Given the description of an element on the screen output the (x, y) to click on. 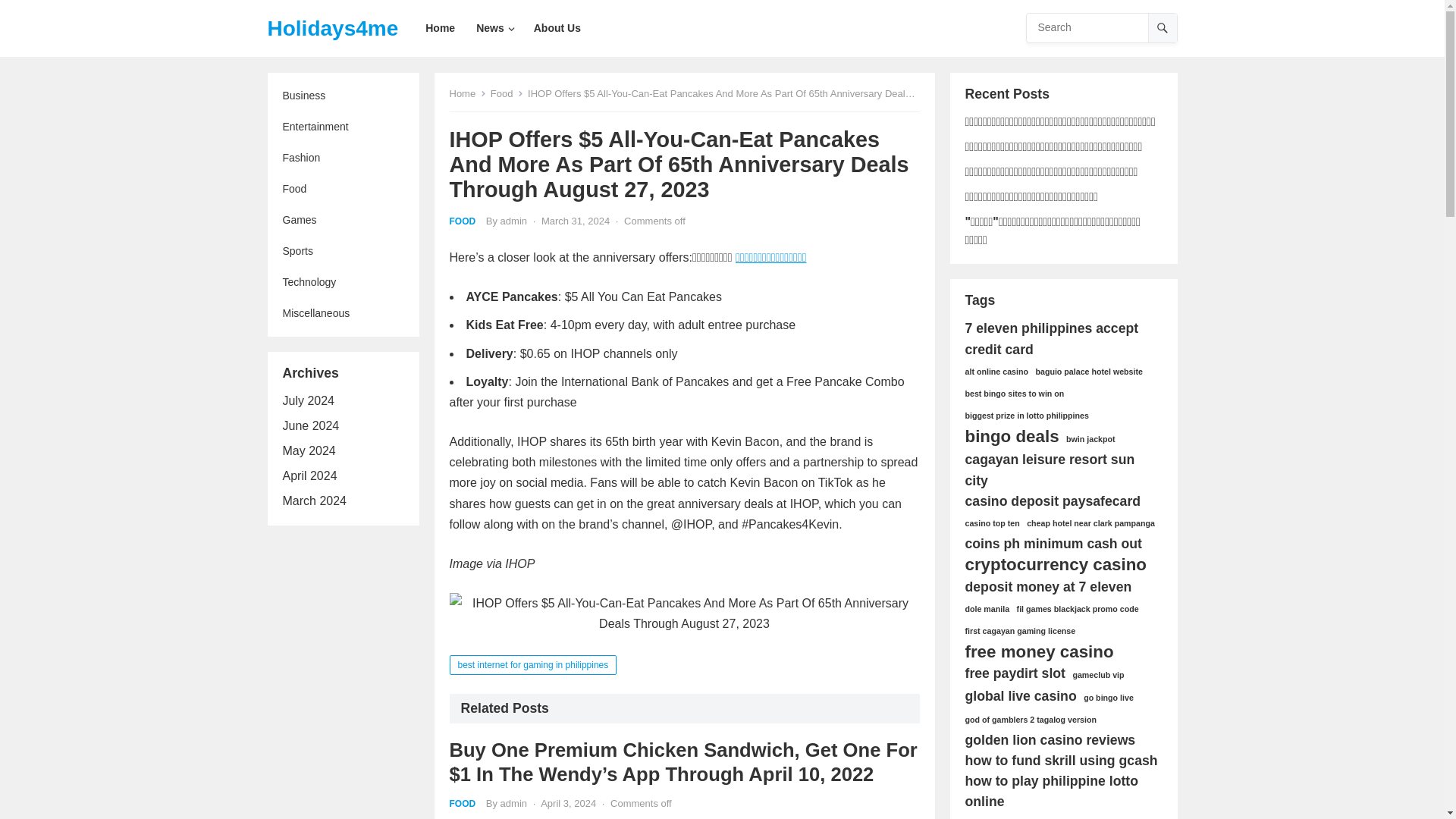
FOOD (462, 221)
Fashion (342, 157)
News (494, 28)
June 2024 (310, 425)
April 2024 (309, 475)
Miscellaneous (342, 313)
July 2024 (308, 400)
About Us (556, 28)
Posts by admin (513, 803)
Food (507, 93)
Holidays4me (331, 28)
Home (467, 93)
Food (342, 188)
Business (342, 95)
Technology (342, 282)
